Given the description of an element on the screen output the (x, y) to click on. 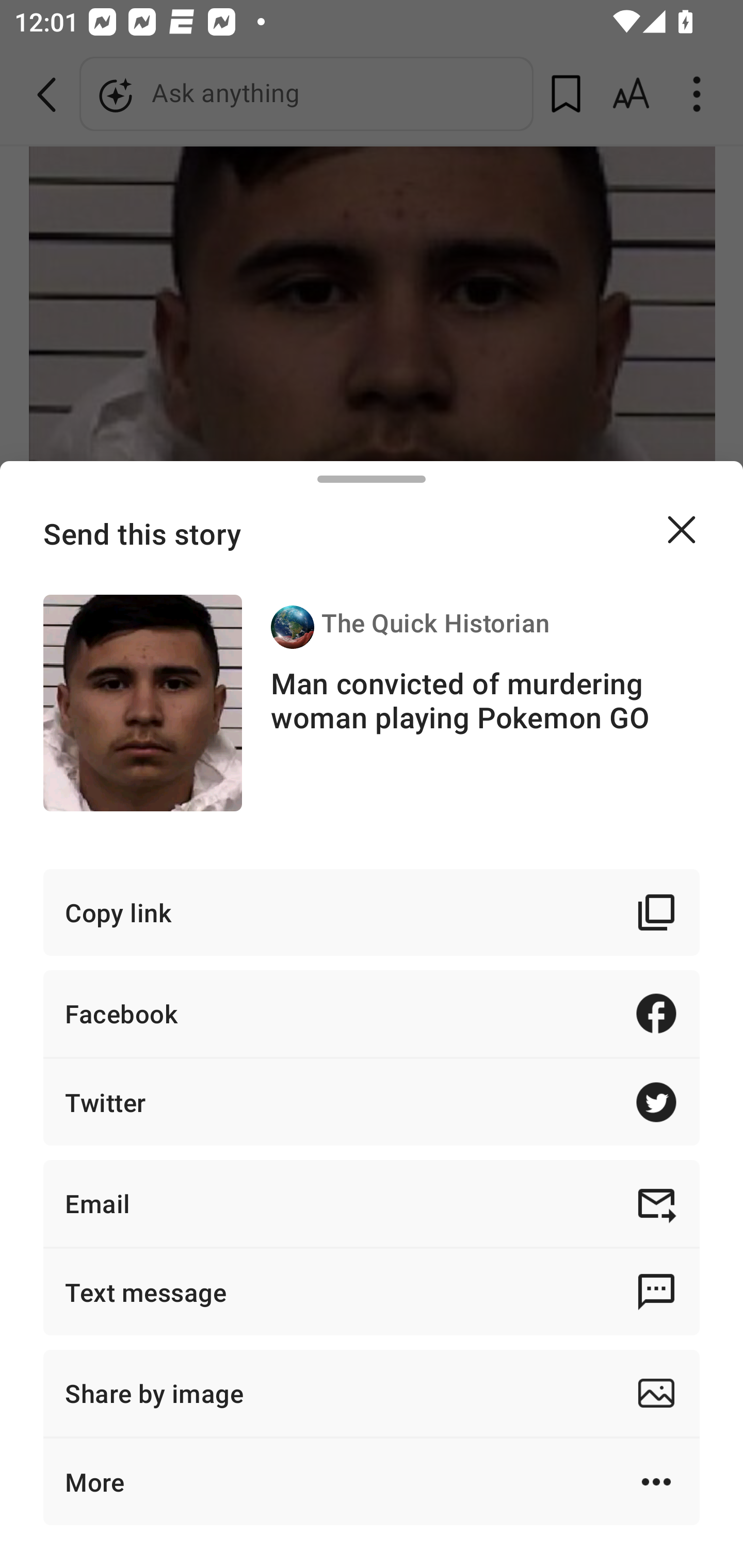
Copy link (371, 912)
Facebook (371, 1013)
Twitter (371, 1102)
Email (371, 1203)
Text message (371, 1291)
Share by image (371, 1393)
More (371, 1481)
